Given the description of an element on the screen output the (x, y) to click on. 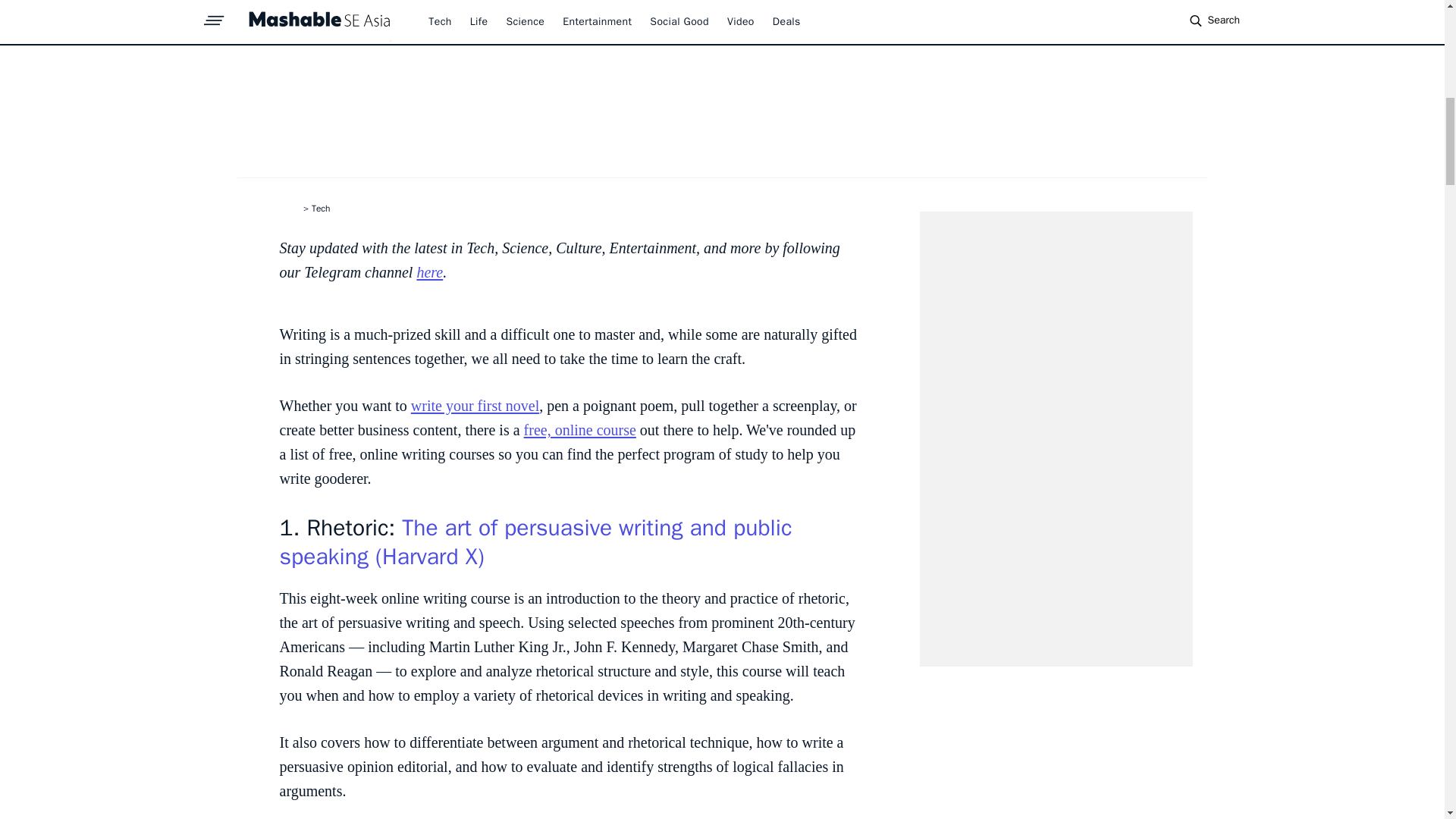
here (429, 271)
write your first novel (474, 405)
free, online course (580, 429)
